Given the description of an element on the screen output the (x, y) to click on. 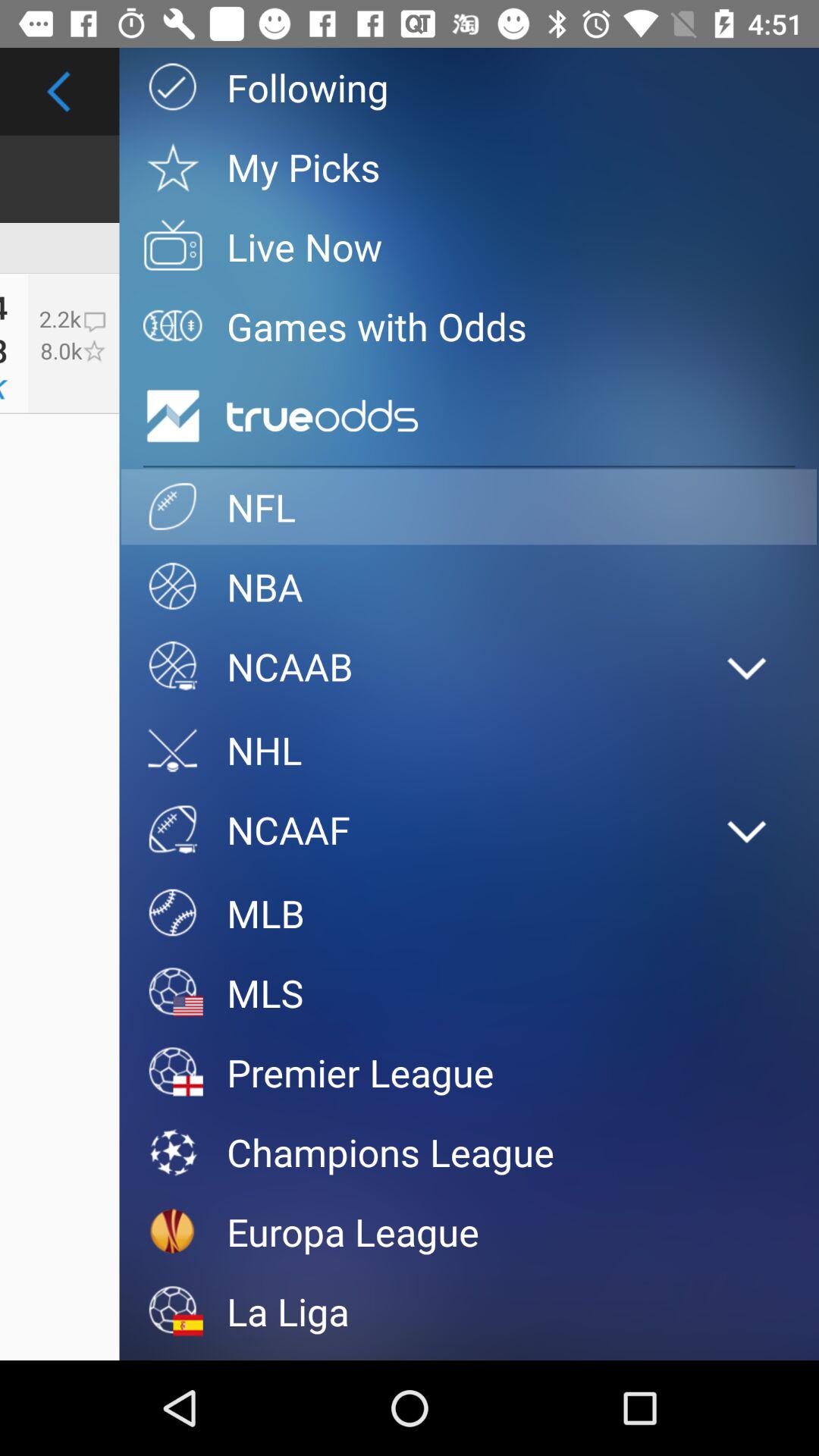
open ncaab item (409, 666)
